Given the description of an element on the screen output the (x, y) to click on. 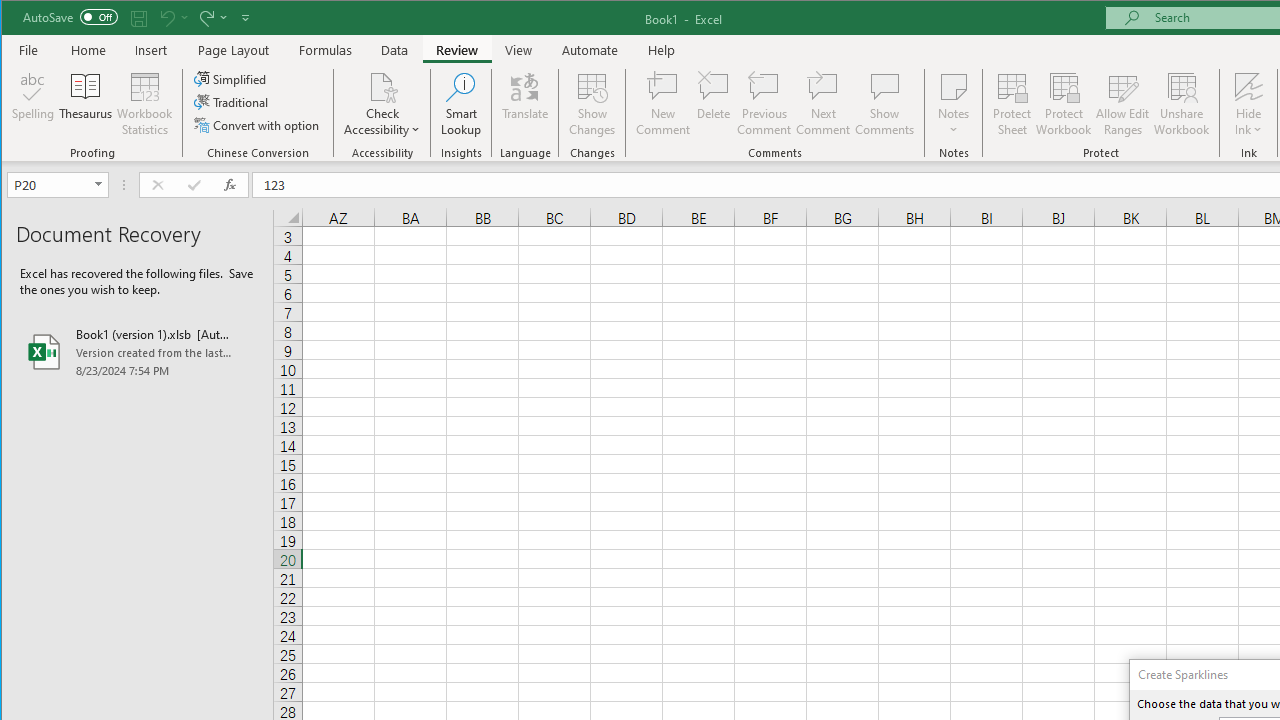
Show Comments (884, 104)
